Given the description of an element on the screen output the (x, y) to click on. 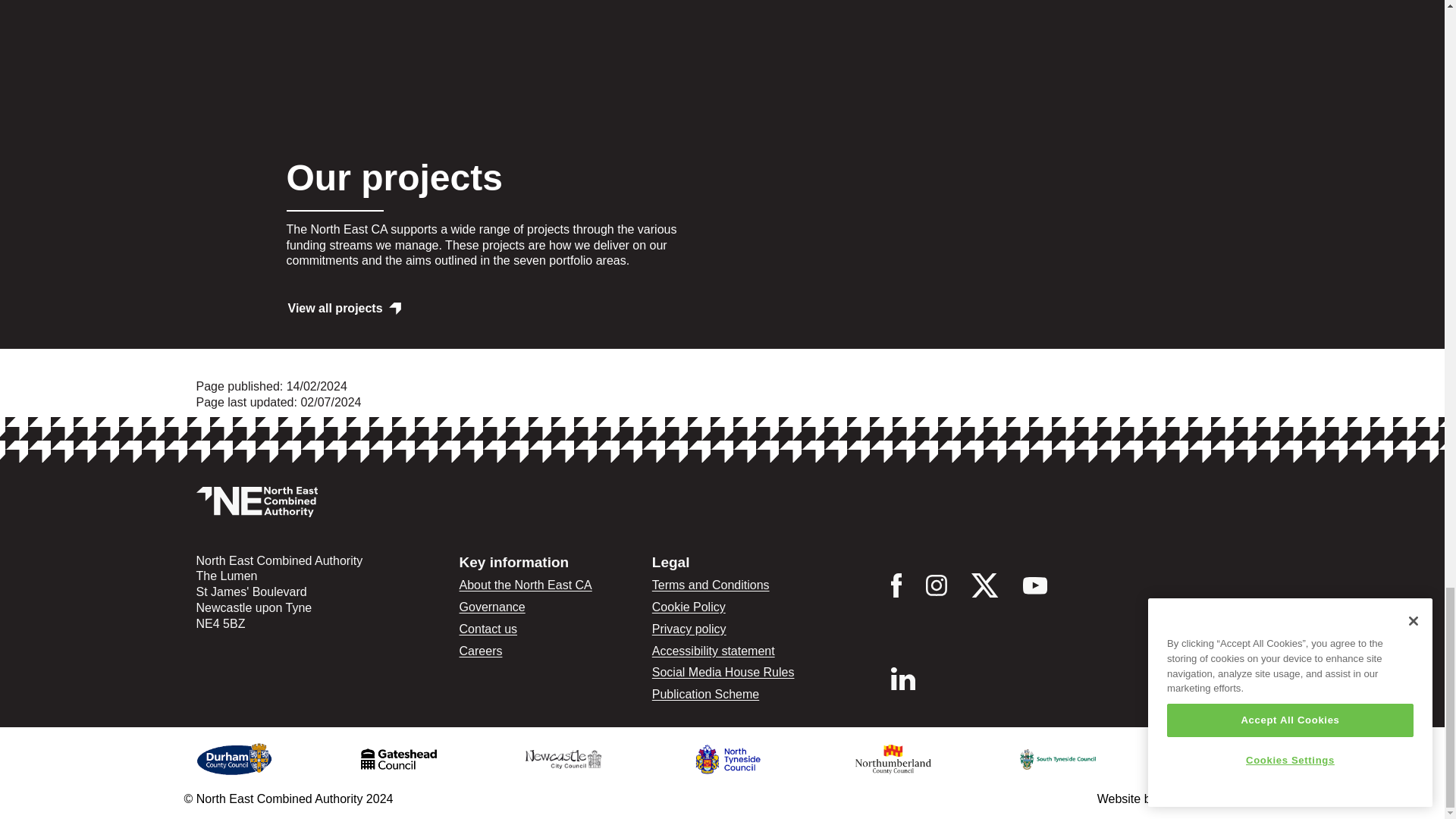
Contact us (488, 628)
Publication Scheme (705, 694)
Terms and Conditions (711, 584)
Privacy policy (689, 628)
Careers (481, 650)
Social Media House Rules (723, 671)
Governance (492, 606)
Cookie Policy (688, 606)
Enigma Interactive (1210, 798)
About the North East CA (526, 584)
Accessibility statement (713, 650)
